Given the description of an element on the screen output the (x, y) to click on. 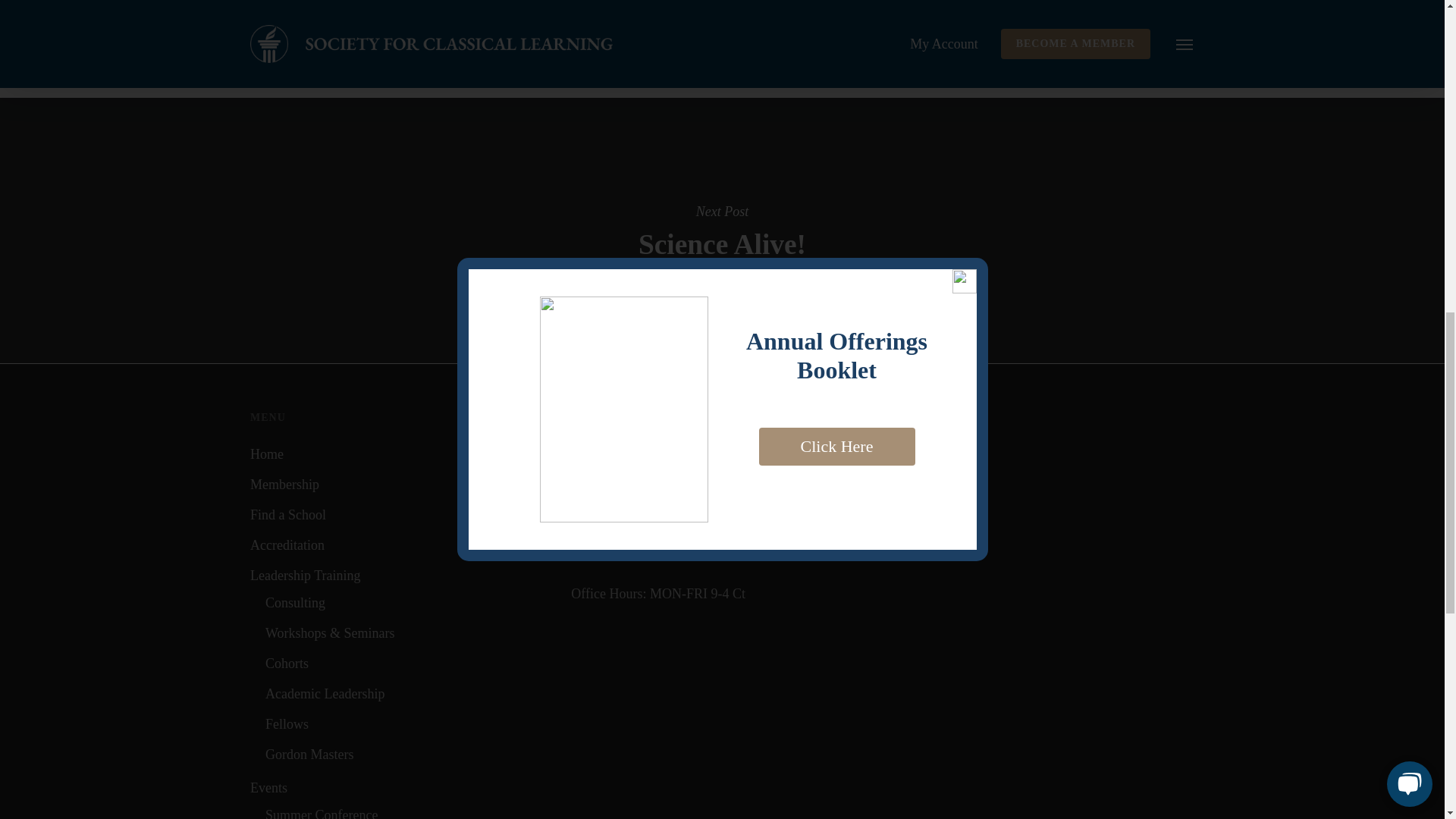
Find a School (400, 514)
Pin (772, 12)
Cohorts (407, 663)
Share (393, 13)
Consulting (684, 12)
Events (407, 602)
Fellows (400, 787)
Gordon Masters (407, 723)
Accreditation (407, 754)
Home (400, 545)
Summer Conference (400, 454)
Share (407, 811)
Leadership Training (494, 12)
Membership (400, 575)
